Given the description of an element on the screen output the (x, y) to click on. 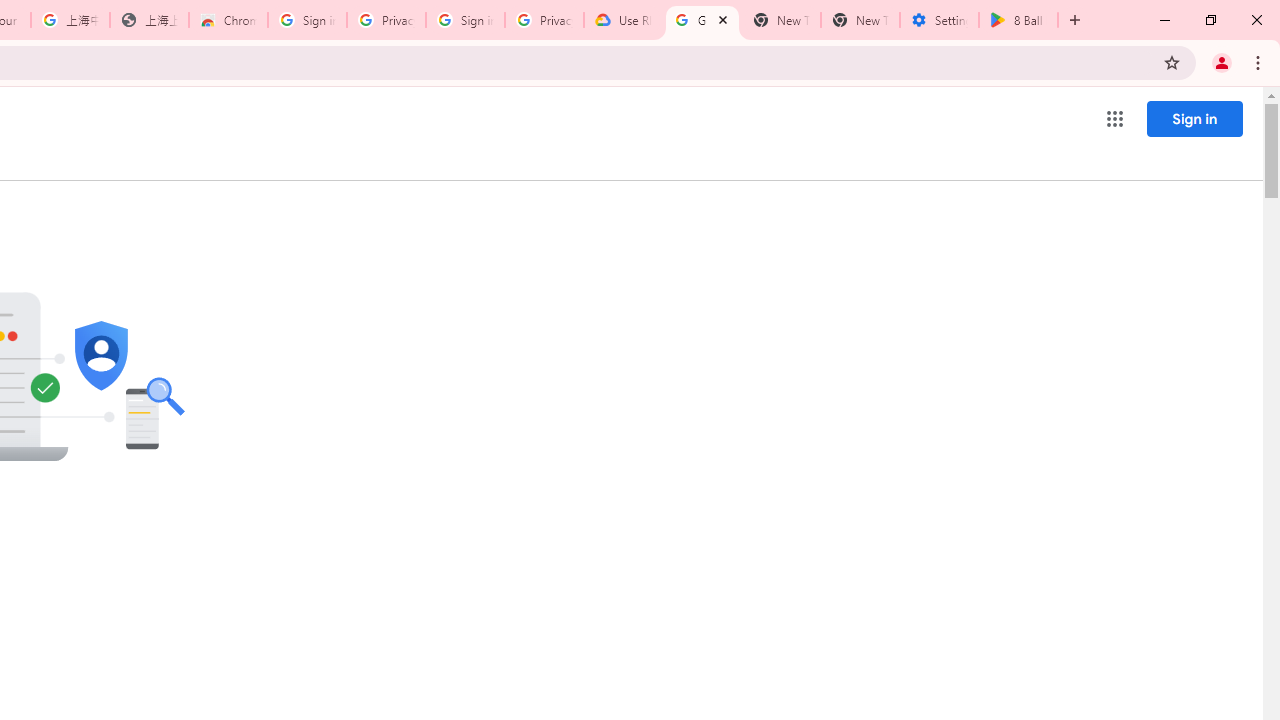
New Tab (859, 20)
Settings - System (939, 20)
Sign in - Google Accounts (306, 20)
8 Ball Pool - Apps on Google Play (1018, 20)
Sign in - Google Accounts (465, 20)
Google apps (1114, 118)
